Given the description of an element on the screen output the (x, y) to click on. 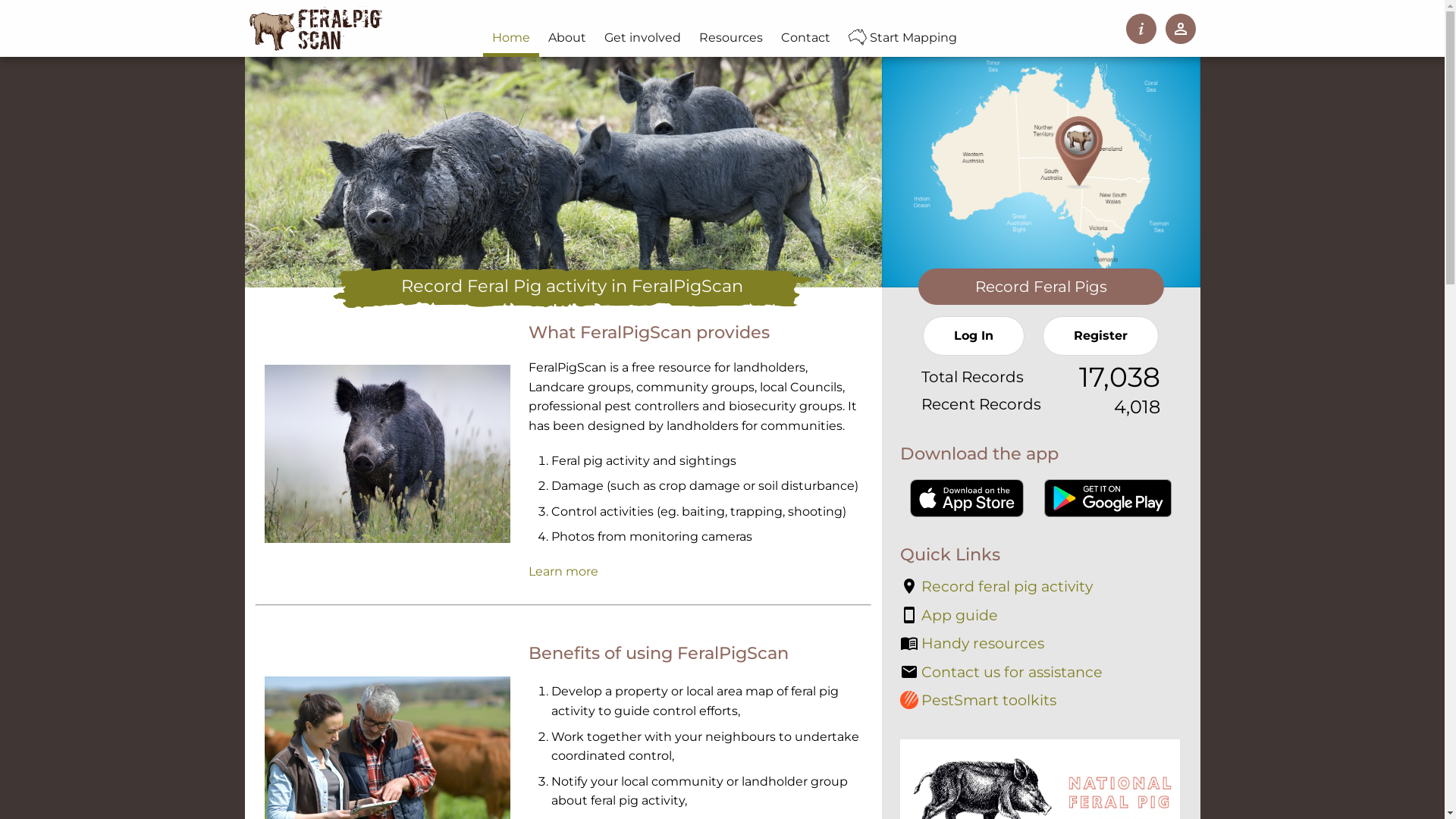
Log In Element type: text (973, 335)
What FeralPigScan provides Element type: text (648, 331)
Start Mapping Element type: text (907, 37)
Instructions Element type: hover (1140, 28)
Download the FeralScan App on the App Store Element type: hover (966, 498)
About Element type: text (567, 37)
Record feral pig activity Element type: text (995, 586)
Get involved Element type: text (642, 37)
Contact us for assistance Element type: text (1000, 672)
Log In / Register Element type: hover (1179, 28)
Contact Element type: text (805, 37)
Home Element type: text (511, 37)
Record sightings or evidence of feral pigs. Source: B Jevtic Element type: hover (386, 453)
App guide Element type: text (948, 615)
Handy resources Element type: text (971, 643)
Record Feral Pigs Element type: text (1040, 286)
Click to Start Mapping Element type: hover (1040, 164)
Get the FeralScan App on Google Play Element type: hover (1107, 498)
PestSmart toolkits Element type: text (977, 700)
Learn more Element type: text (563, 571)
Resources Element type: text (730, 37)
Register Element type: text (1100, 335)
